Given the description of an element on the screen output the (x, y) to click on. 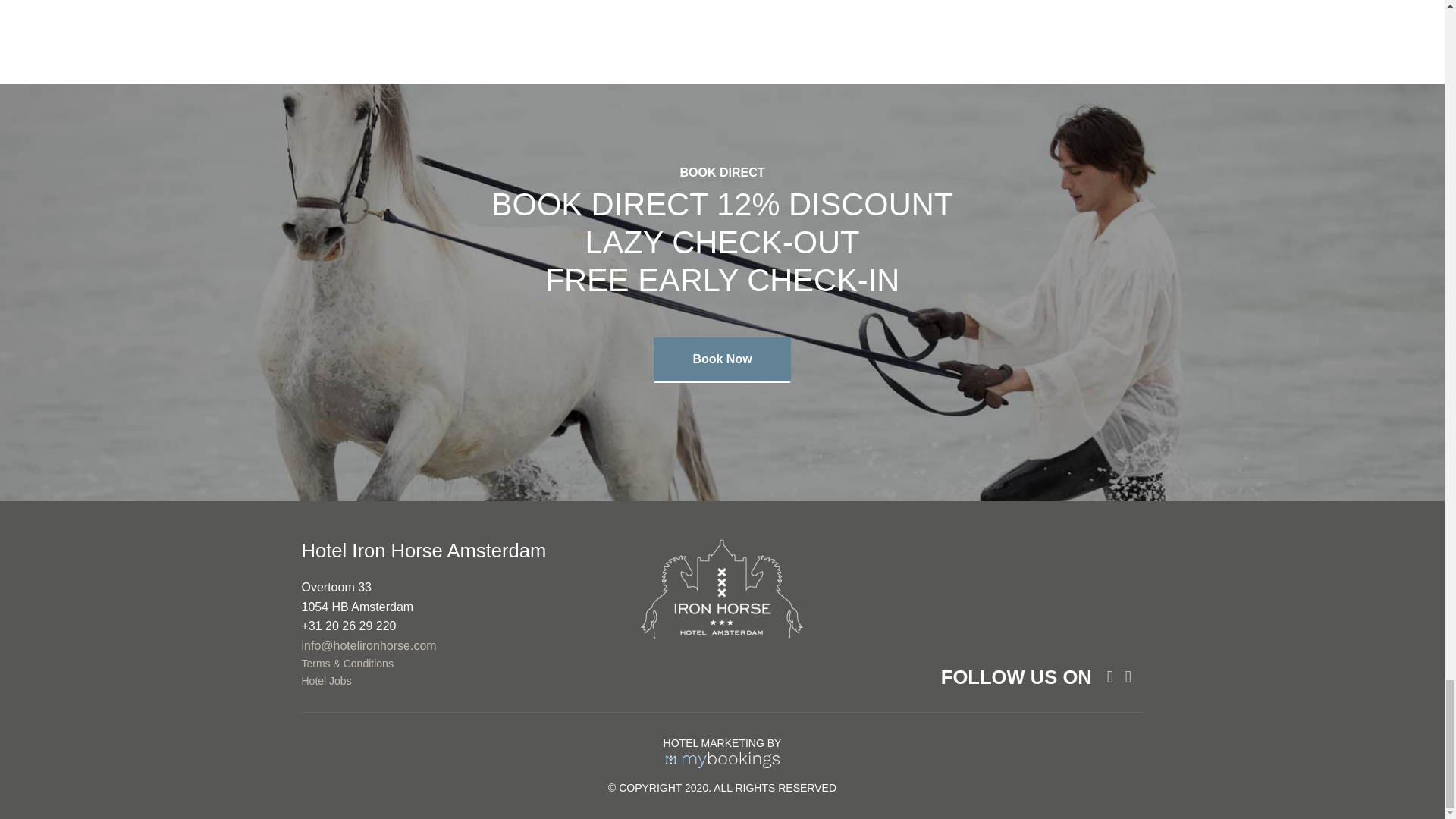
Hotel Jobs (326, 680)
Book Now (721, 360)
